Given the description of an element on the screen output the (x, y) to click on. 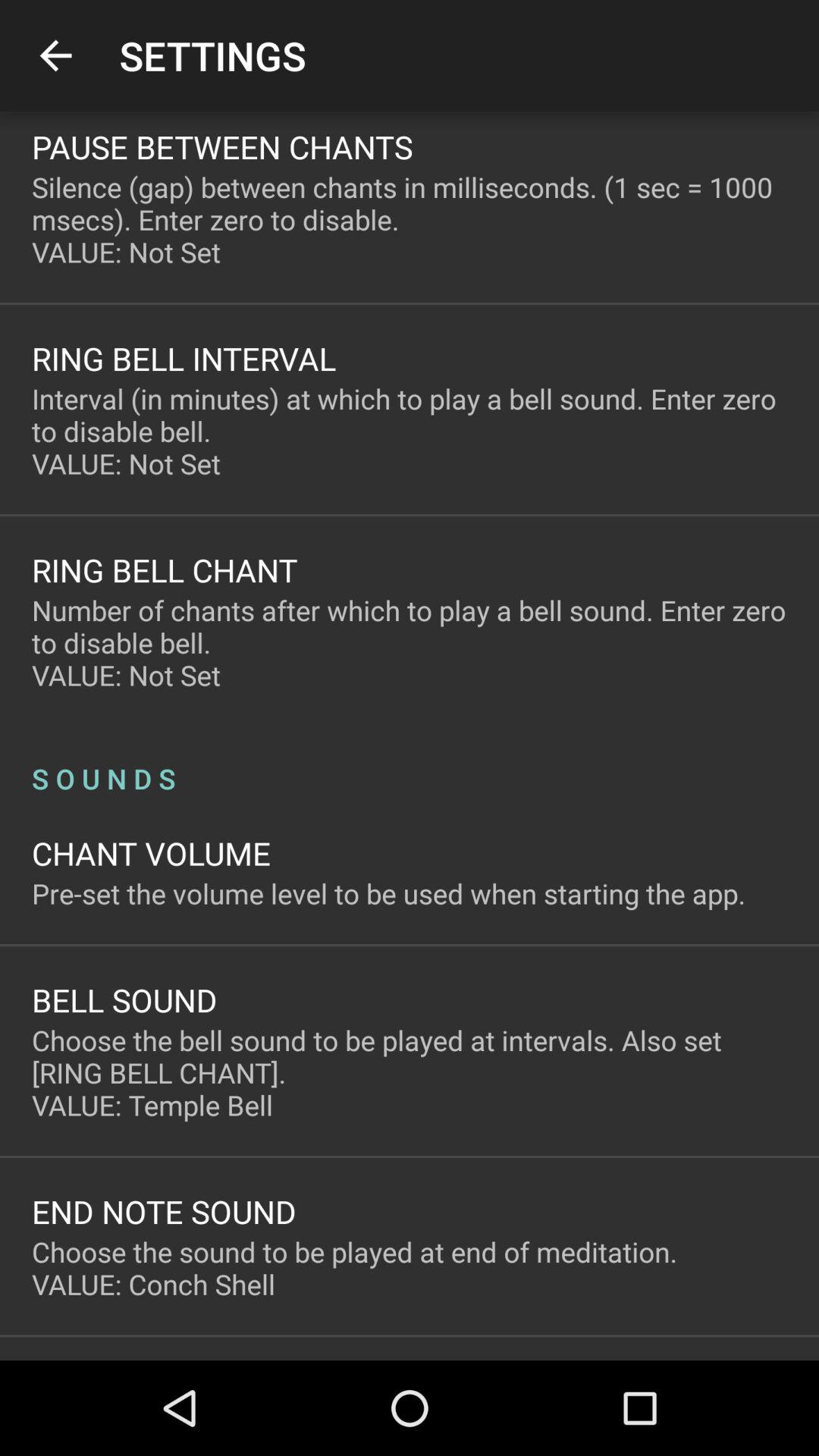
click silence gap between icon (409, 219)
